Given the description of an element on the screen output the (x, y) to click on. 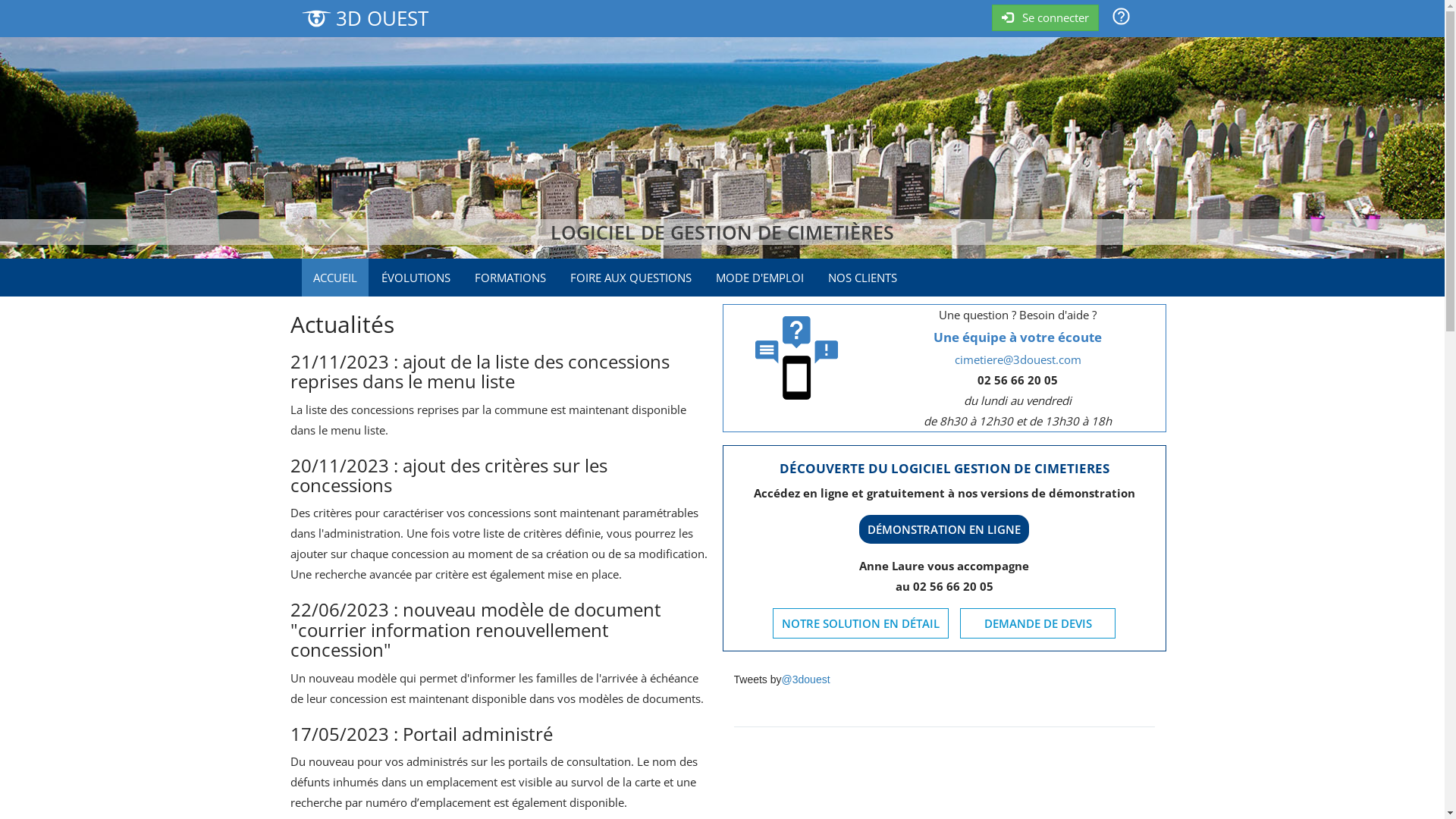
FORMATIONS Element type: text (509, 277)
FOIRE AUX QUESTIONS Element type: text (630, 277)
DEMANDE DE DEVIS Element type: text (1038, 622)
   Se connecter Element type: text (1044, 17)
MODE D'EMPLOI Element type: text (758, 277)
DEMANDE DE DEVIS Element type: text (1037, 623)
cimetiere@3douest.com Element type: text (1017, 359)
@3douest Element type: text (805, 679)
NOS CLIENTS Element type: text (861, 277)
ACCUEIL Element type: text (334, 277)
